Given the description of an element on the screen output the (x, y) to click on. 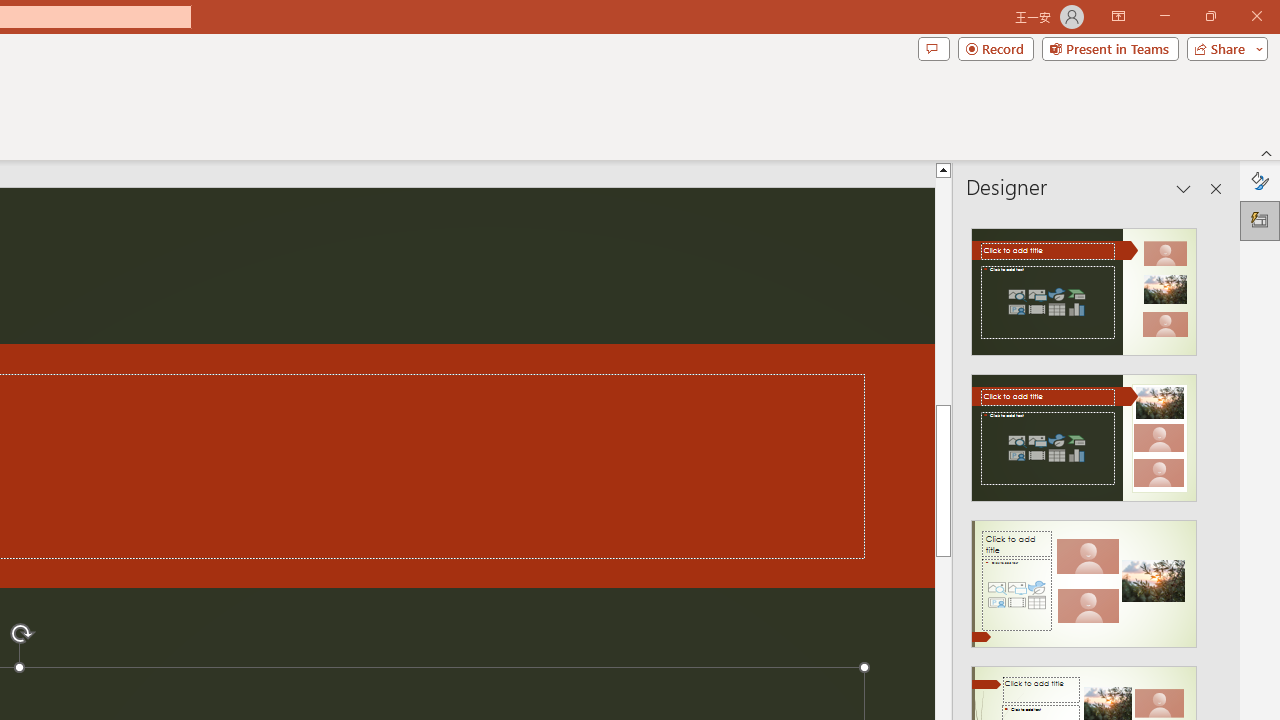
Format Background (1260, 180)
Recommended Design: Design Idea (1083, 286)
